Given the description of an element on the screen output the (x, y) to click on. 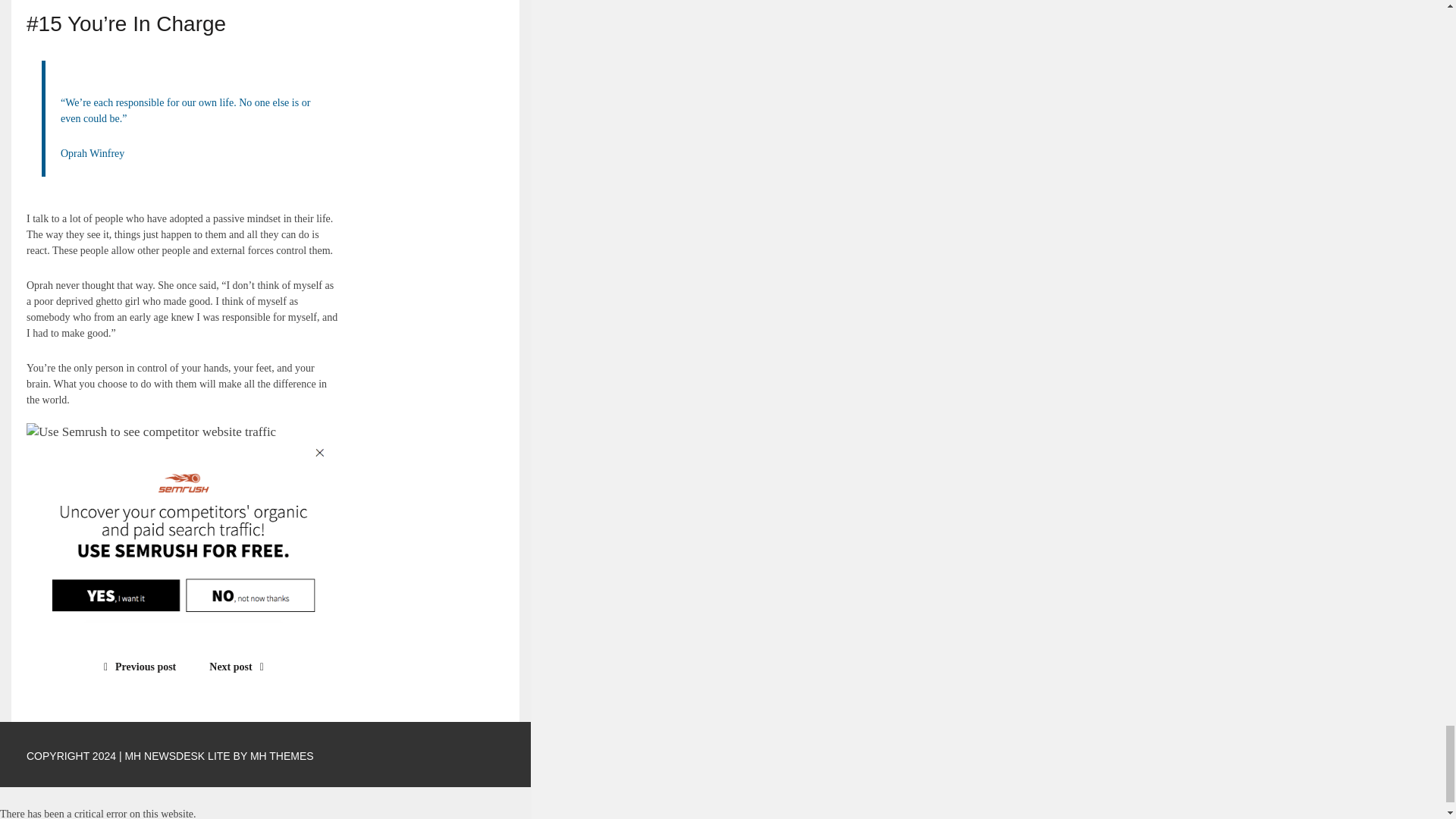
Use Semrush to see competitor website traffic (183, 531)
Next post (239, 666)
Use Semrush to see competitor website traffic (151, 432)
Previous post (136, 666)
